Given the description of an element on the screen output the (x, y) to click on. 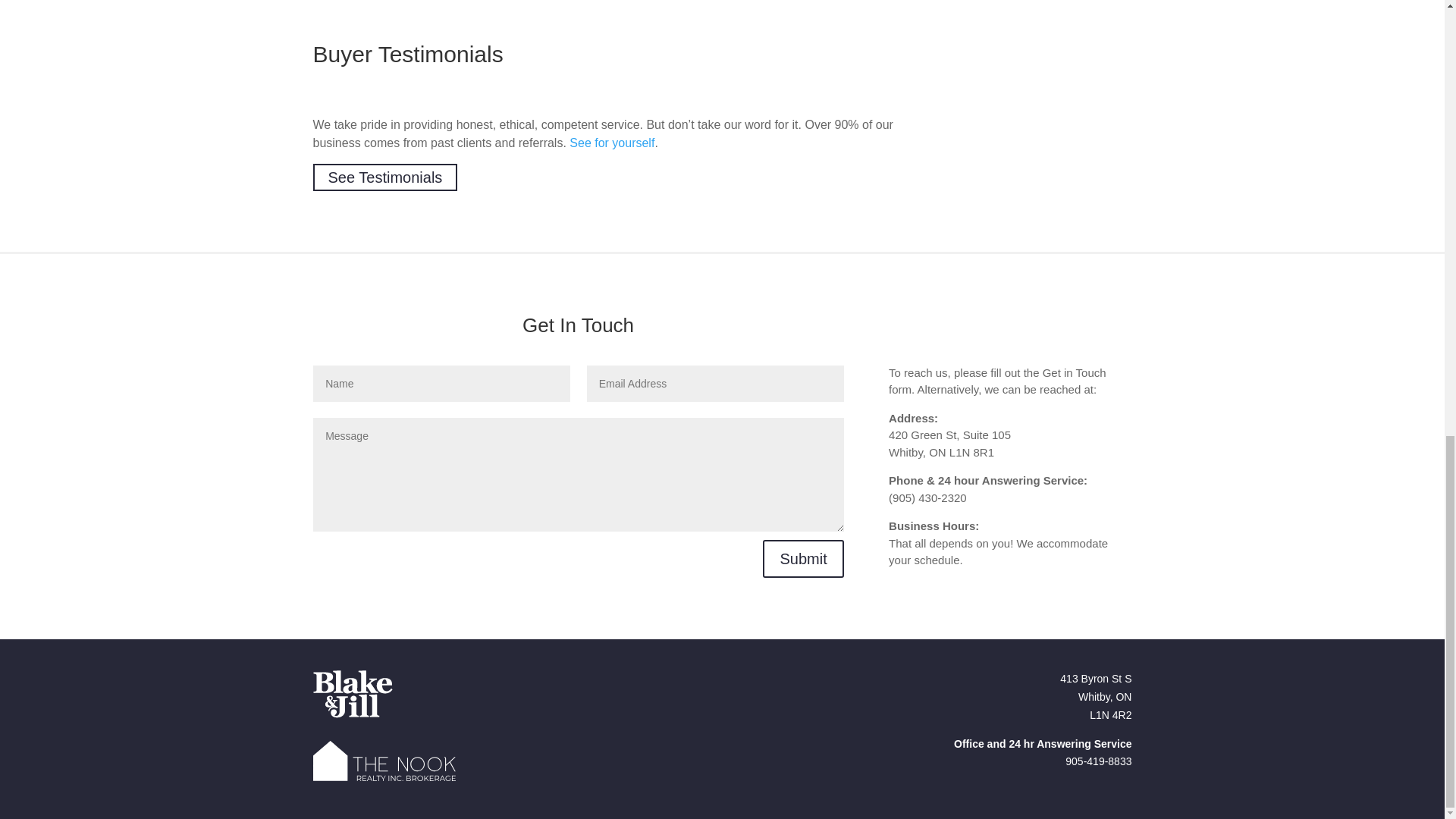
BAJlogo (352, 694)
See Testimonials (385, 176)
nooklong (384, 761)
See for yourself (611, 142)
Submit (802, 558)
